Given the description of an element on the screen output the (x, y) to click on. 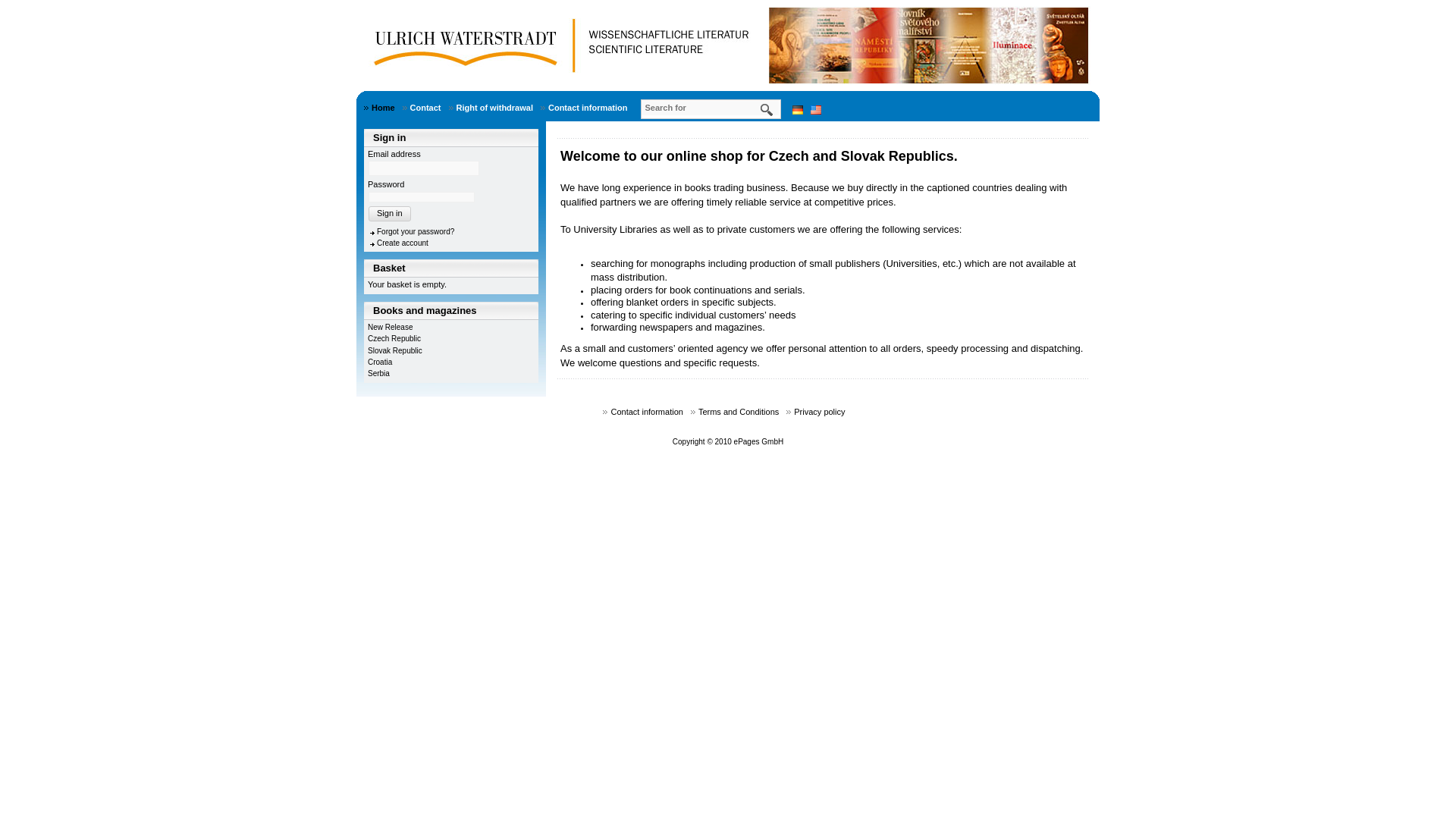
New Release (390, 326)
Contact (429, 107)
Privacy policy (822, 412)
Serbia (379, 373)
Slovak Republic (395, 350)
ePages GmbH (758, 441)
Home (386, 107)
Sign in (389, 213)
Books and magazines (451, 311)
Terms and Conditions (742, 412)
Start search (766, 110)
Czech Republic (394, 338)
Contact information (650, 412)
Create account (398, 243)
Forgot your password? (411, 231)
